Given the description of an element on the screen output the (x, y) to click on. 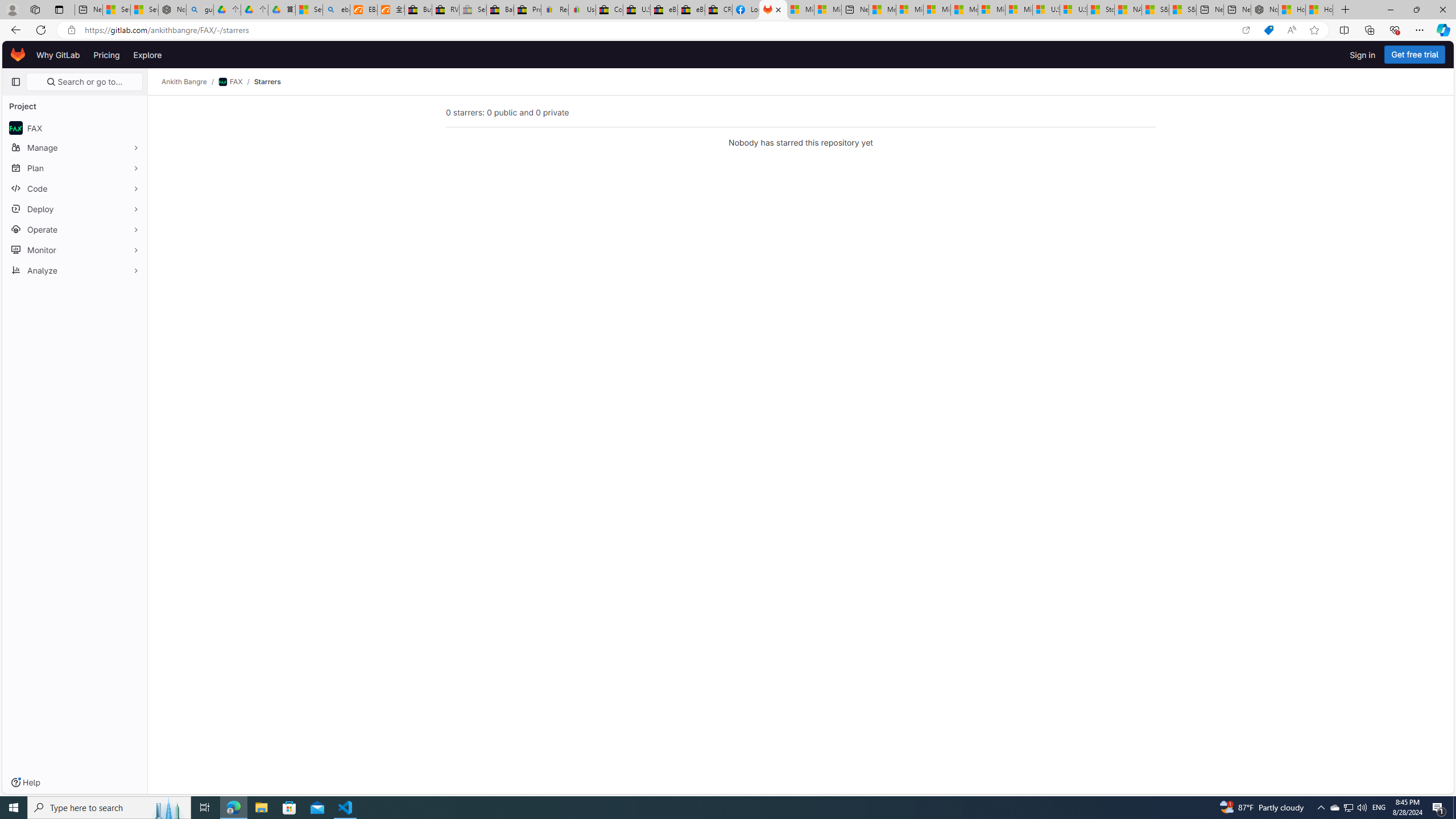
Collections (1369, 29)
Operate (74, 229)
Close (1442, 9)
avatar FAX (74, 127)
ebay - Search (336, 9)
Starrers (267, 81)
Homepage (17, 54)
Restore (1416, 9)
Plan (74, 167)
eBay Inc. Reports Third Quarter 2023 Results (691, 9)
Code (74, 188)
Open in app (1245, 29)
